Given the description of an element on the screen output the (x, y) to click on. 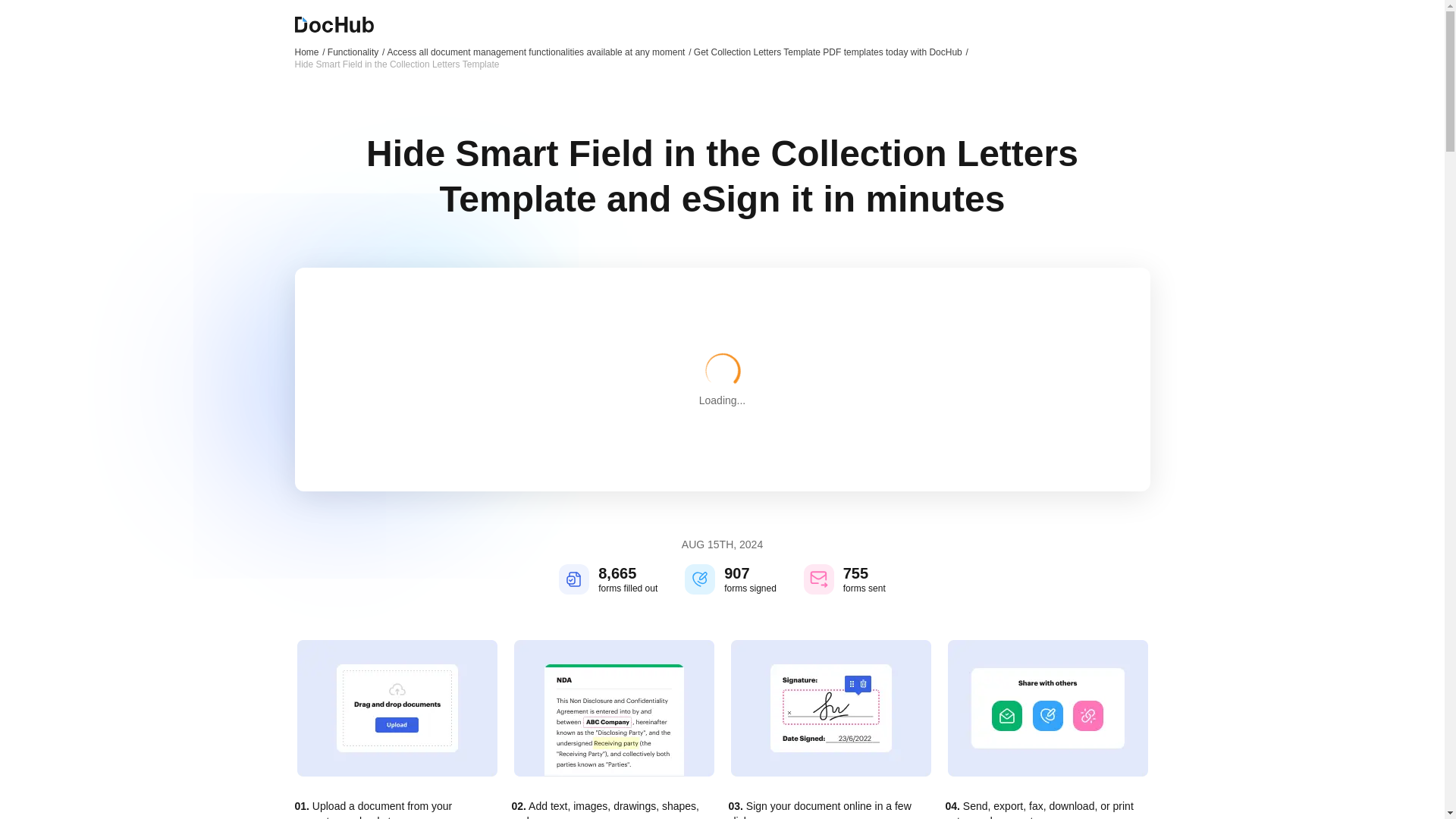
Functionality (355, 51)
Home (309, 51)
